Given the description of an element on the screen output the (x, y) to click on. 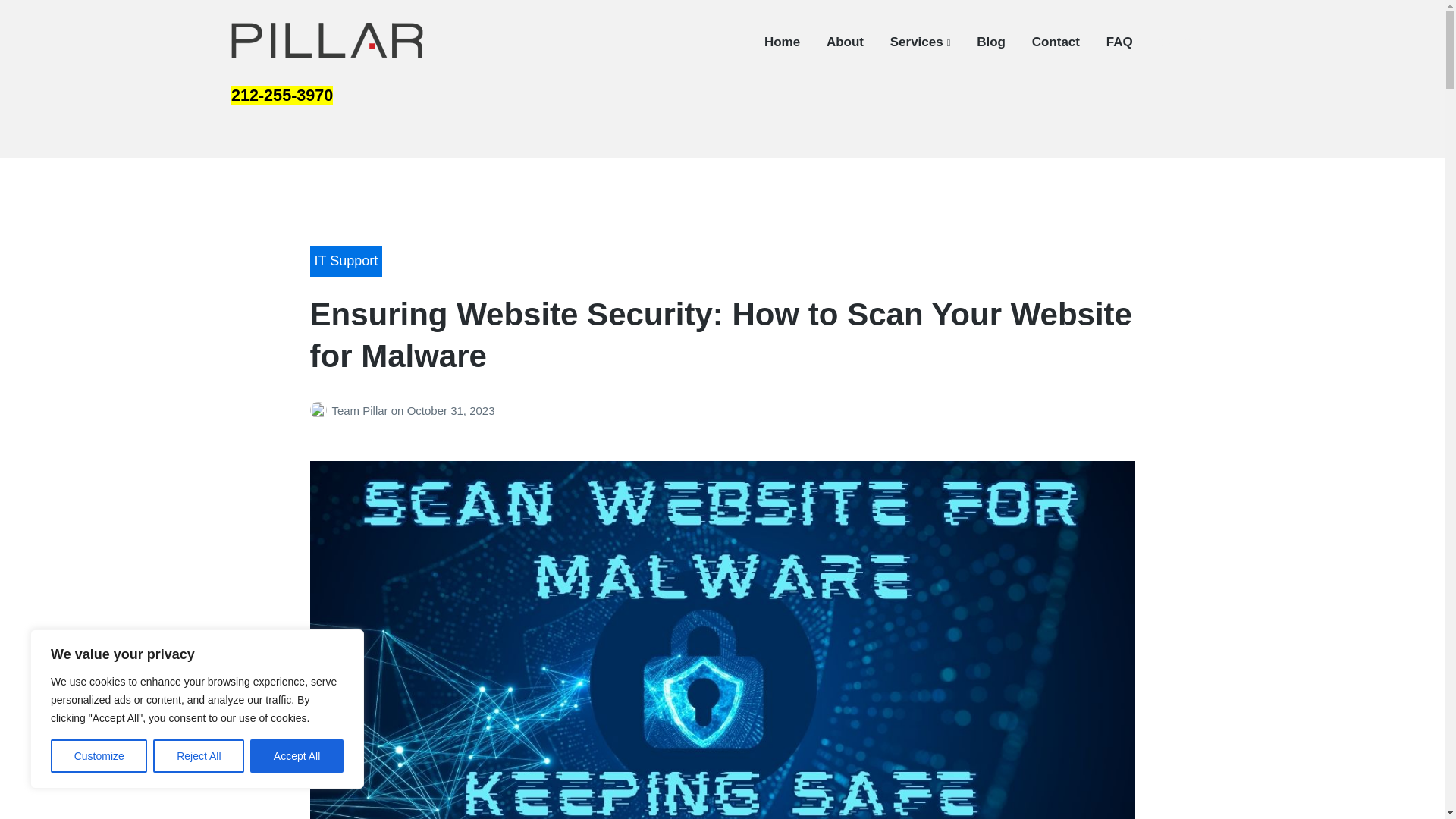
Reject All (198, 756)
Accept All (296, 756)
Search (1180, 42)
Posts by Team Pillar (319, 410)
Blog (991, 42)
IT Support (344, 260)
About (845, 42)
Contact (1056, 42)
Home (781, 42)
FAQ (1119, 42)
